Given the description of an element on the screen output the (x, y) to click on. 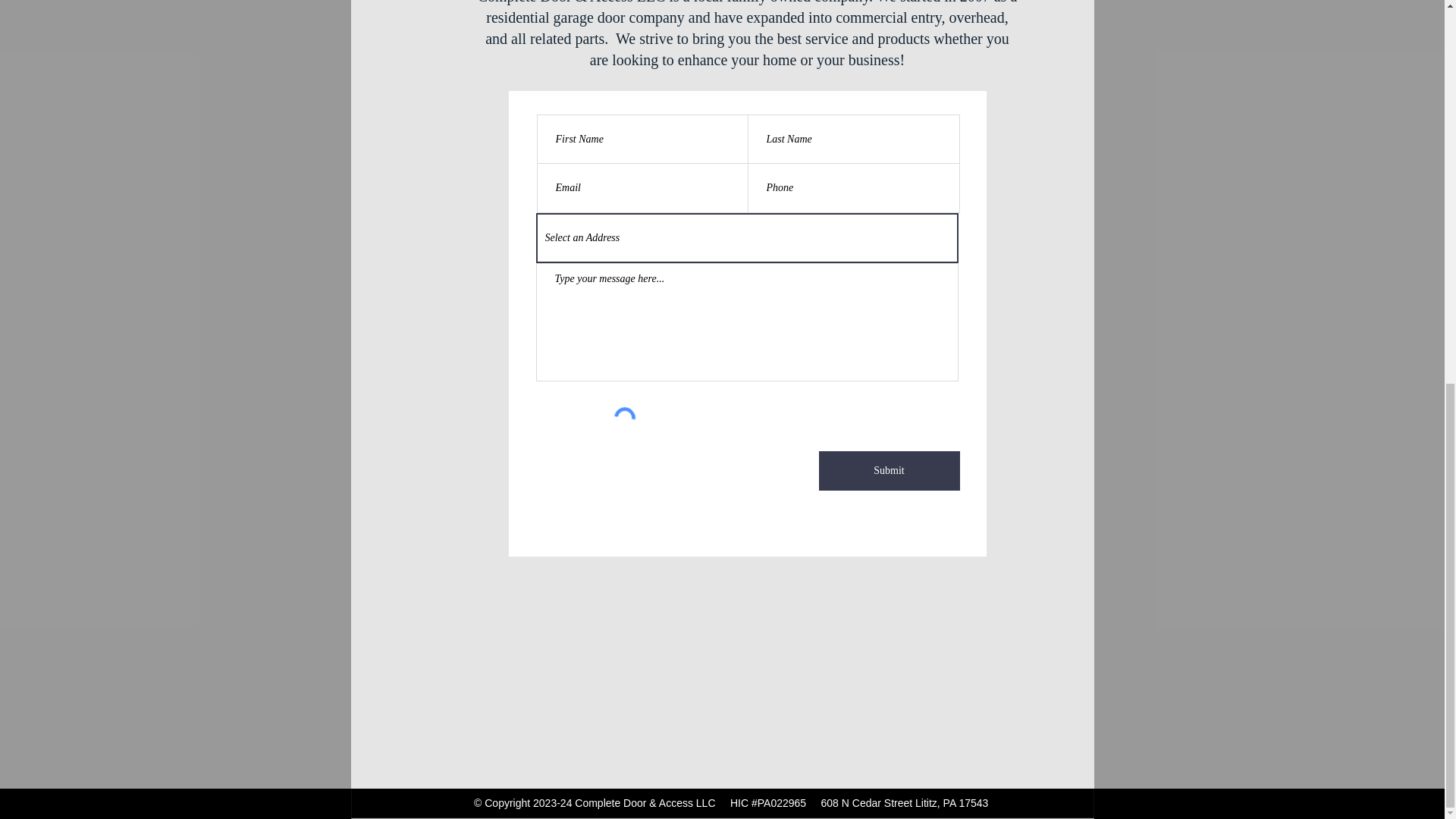
Submit (888, 470)
